Given the description of an element on the screen output the (x, y) to click on. 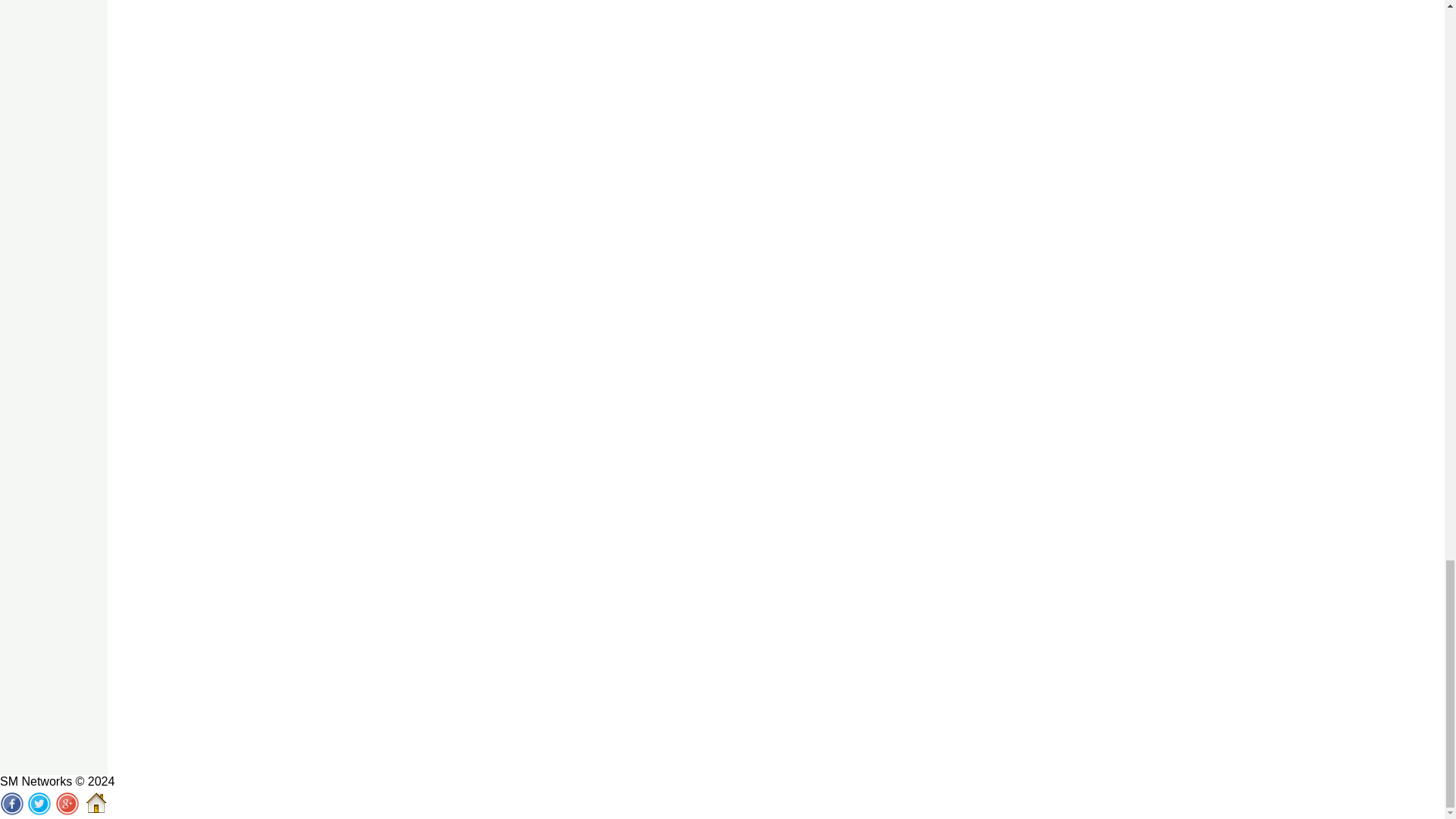
Facebook (12, 803)
Logo (96, 801)
Google Plus (67, 803)
Twitter (38, 803)
